Given the description of an element on the screen output the (x, y) to click on. 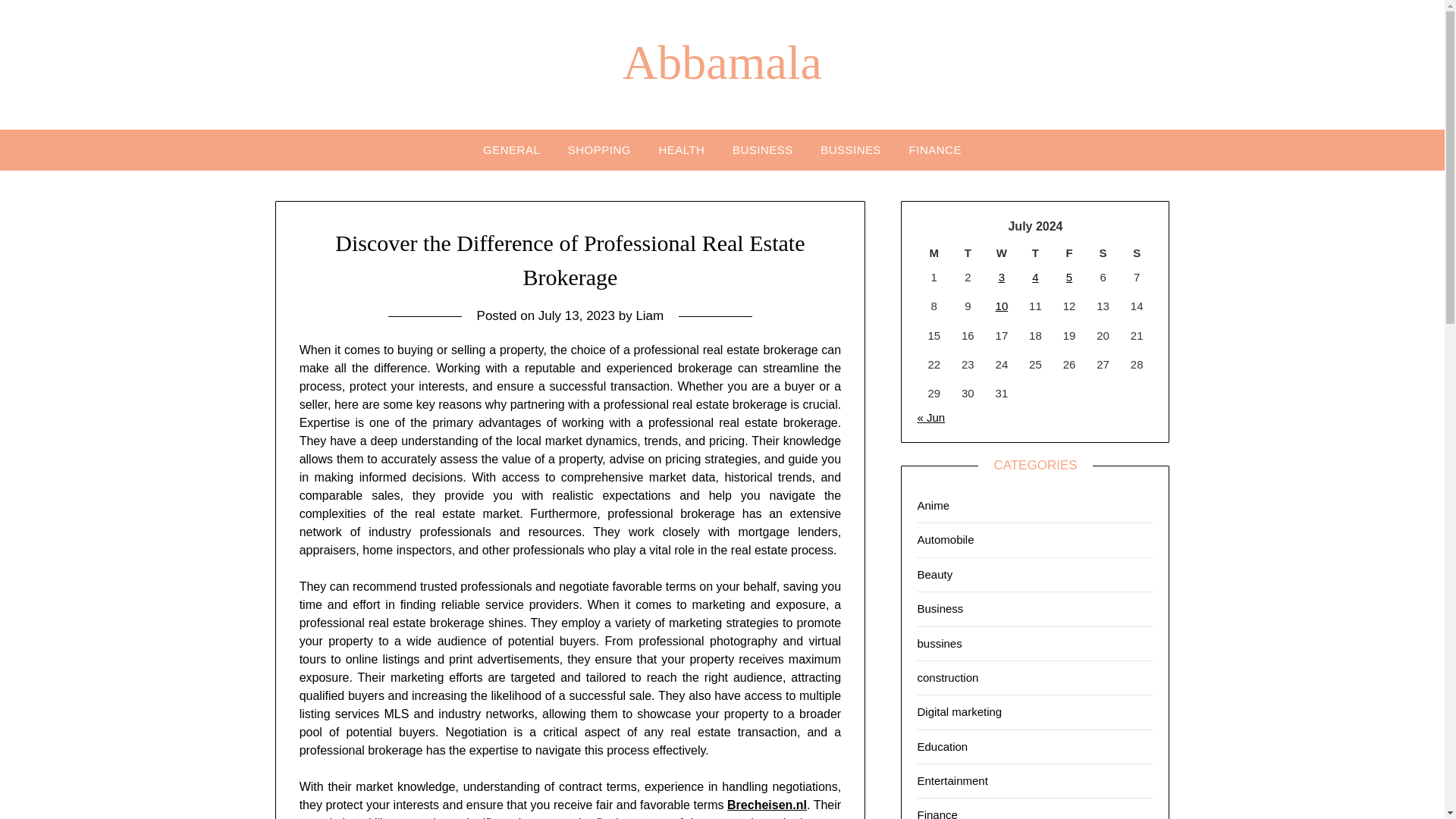
SHOPPING (599, 149)
Digital marketing (959, 711)
Thursday (1034, 253)
July 13, 2023 (576, 315)
Automobile (945, 539)
Sunday (1136, 253)
BUSSINES (850, 149)
Anime (933, 504)
Monday (933, 253)
10 (1002, 305)
Education (942, 746)
Business (939, 608)
Entertainment (952, 780)
Friday (1069, 253)
Wednesday (1002, 253)
